Given the description of an element on the screen output the (x, y) to click on. 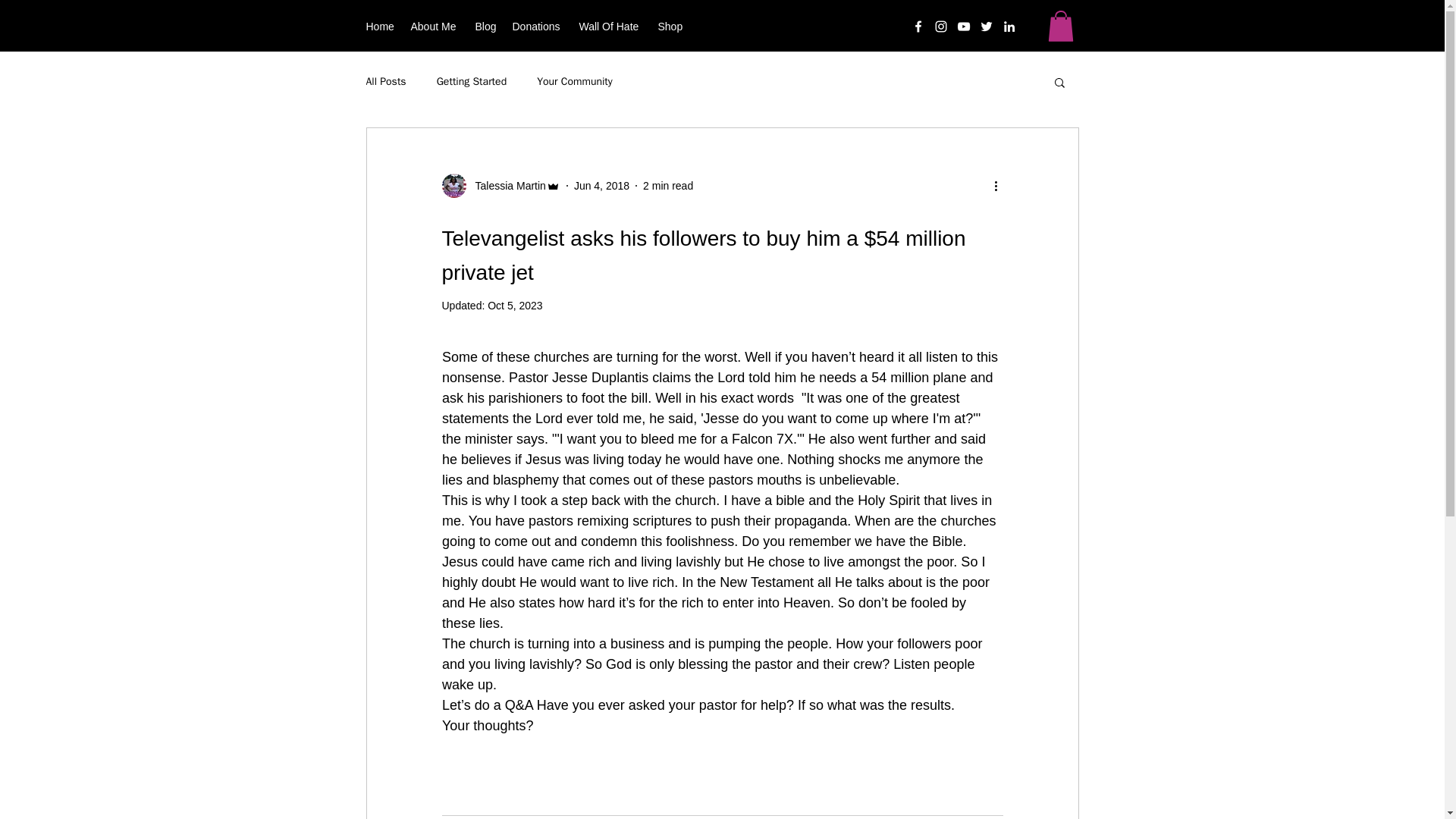
Blog (485, 26)
About Me (435, 26)
Talessia Martin (500, 185)
Jun 4, 2018 (600, 184)
Wall Of Hate (611, 26)
2 min read (668, 184)
Shop (670, 26)
Donations (538, 26)
Talessia Martin (504, 185)
Home (380, 26)
